Given the description of an element on the screen output the (x, y) to click on. 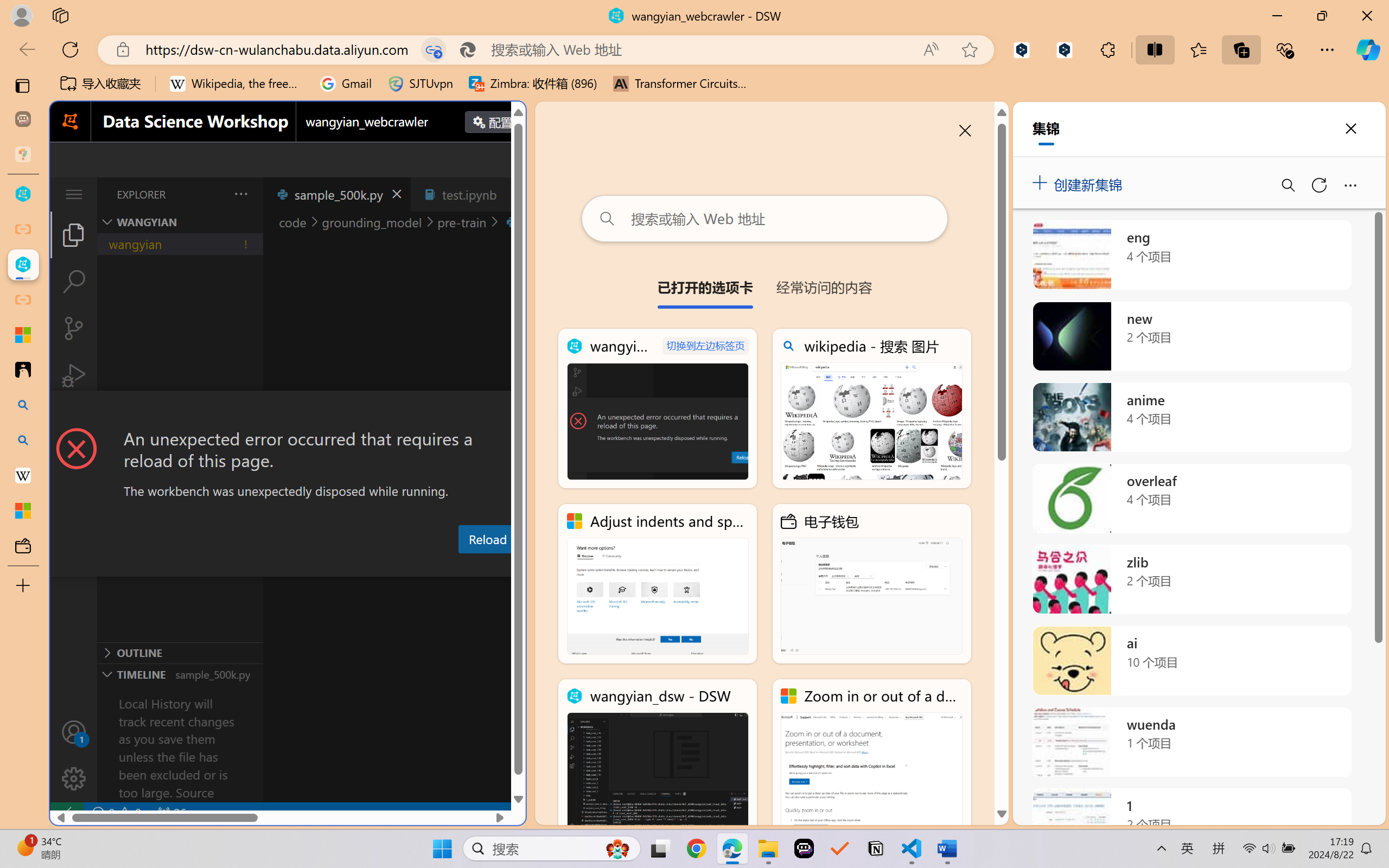
Extensions (Ctrl+Shift+X) (73, 422)
Terminal (Ctrl+`) (553, 565)
Wikipedia, the free encyclopedia (236, 83)
No Problems (115, 812)
Class: actions-container (287, 410)
